Given the description of an element on the screen output the (x, y) to click on. 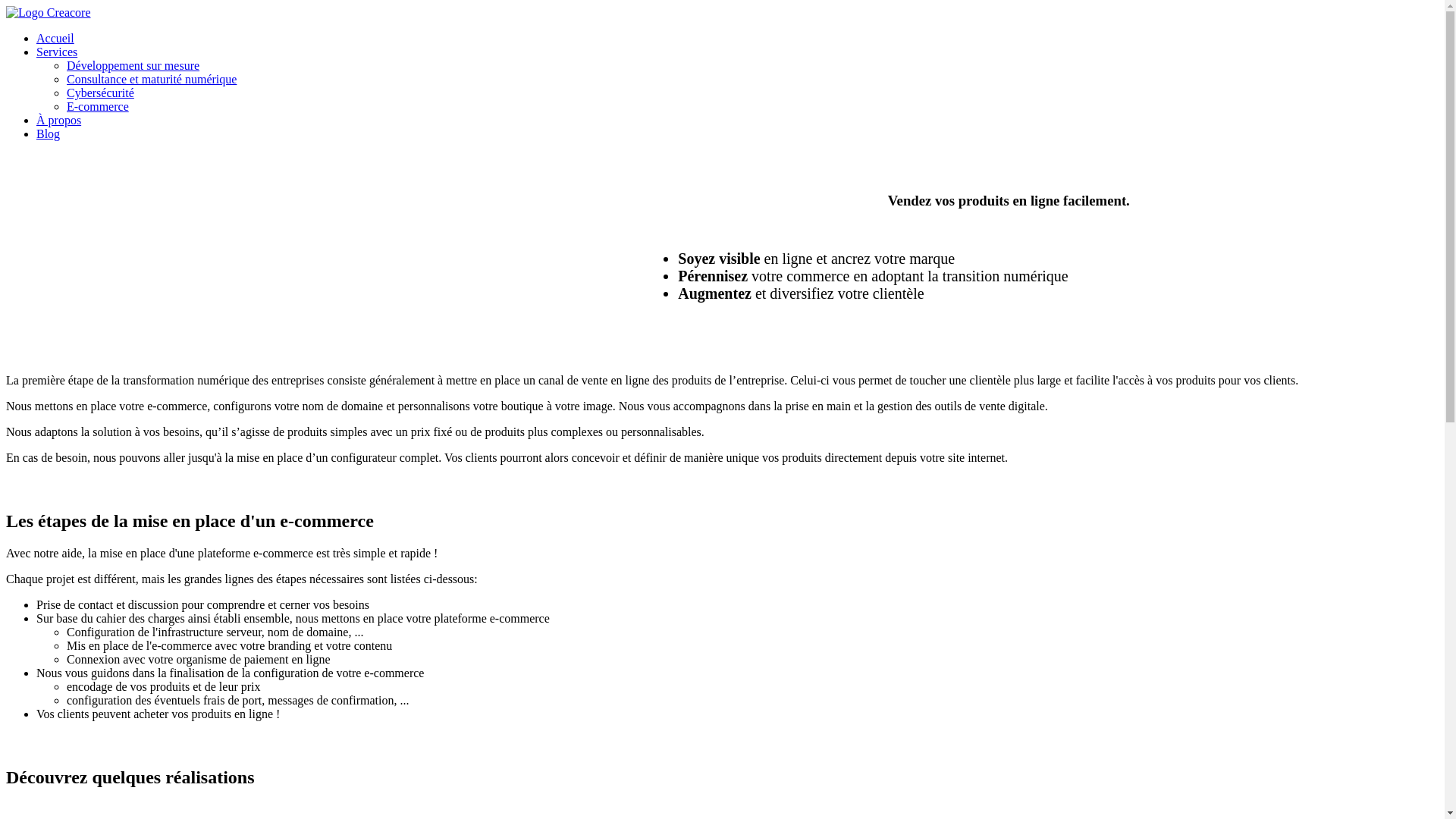
E-commerce Element type: text (97, 106)
Blog Element type: text (47, 133)
Accueil Element type: text (55, 37)
Services Element type: text (56, 51)
